Given the description of an element on the screen output the (x, y) to click on. 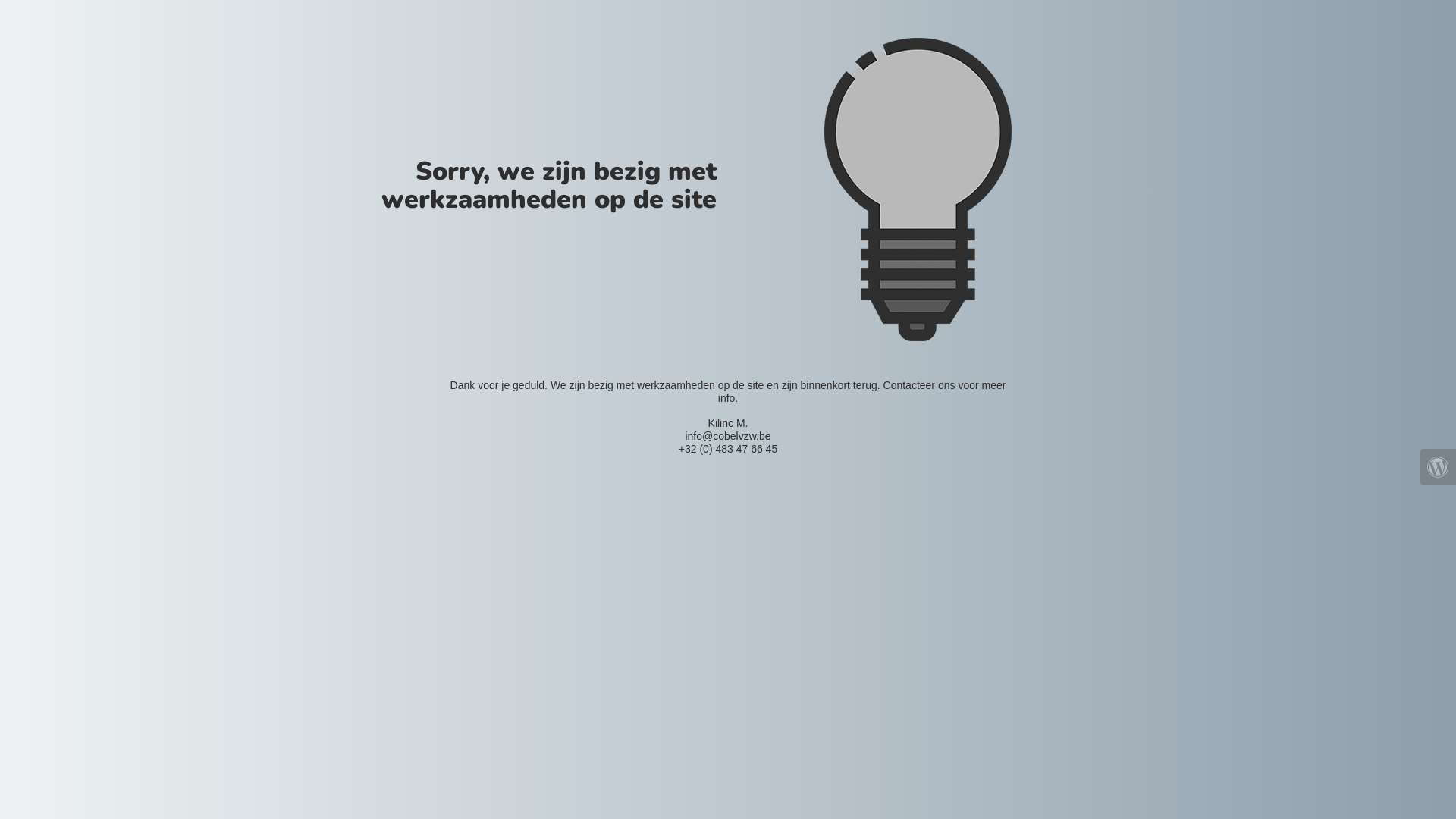
Switching on the site soon ... Element type: hover (916, 189)
